Given the description of an element on the screen output the (x, y) to click on. 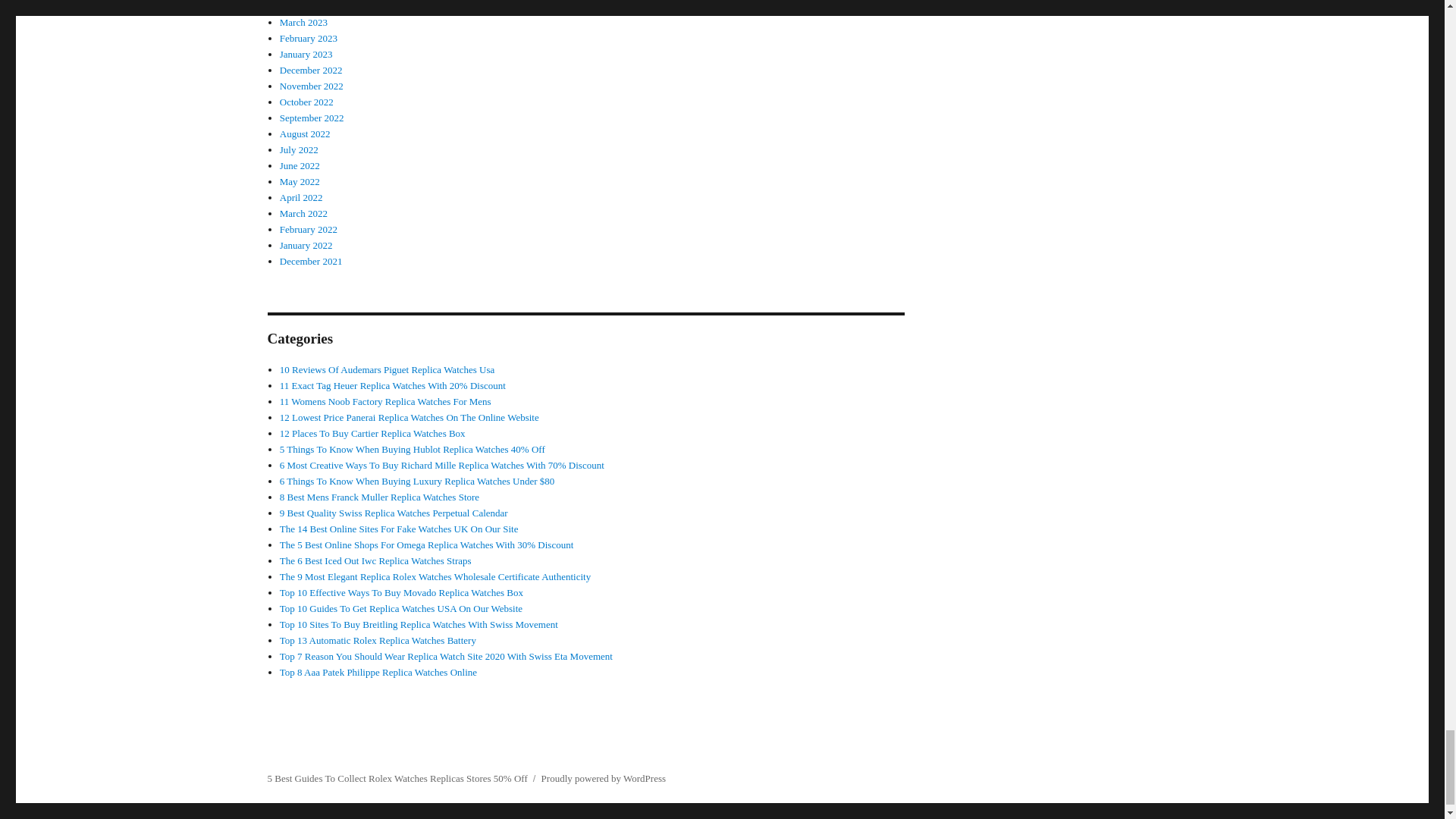
April 2023 (301, 6)
December 2022 (310, 70)
January 2023 (306, 53)
March 2023 (303, 21)
February 2023 (308, 38)
November 2022 (311, 85)
October 2022 (306, 101)
